Given the description of an element on the screen output the (x, y) to click on. 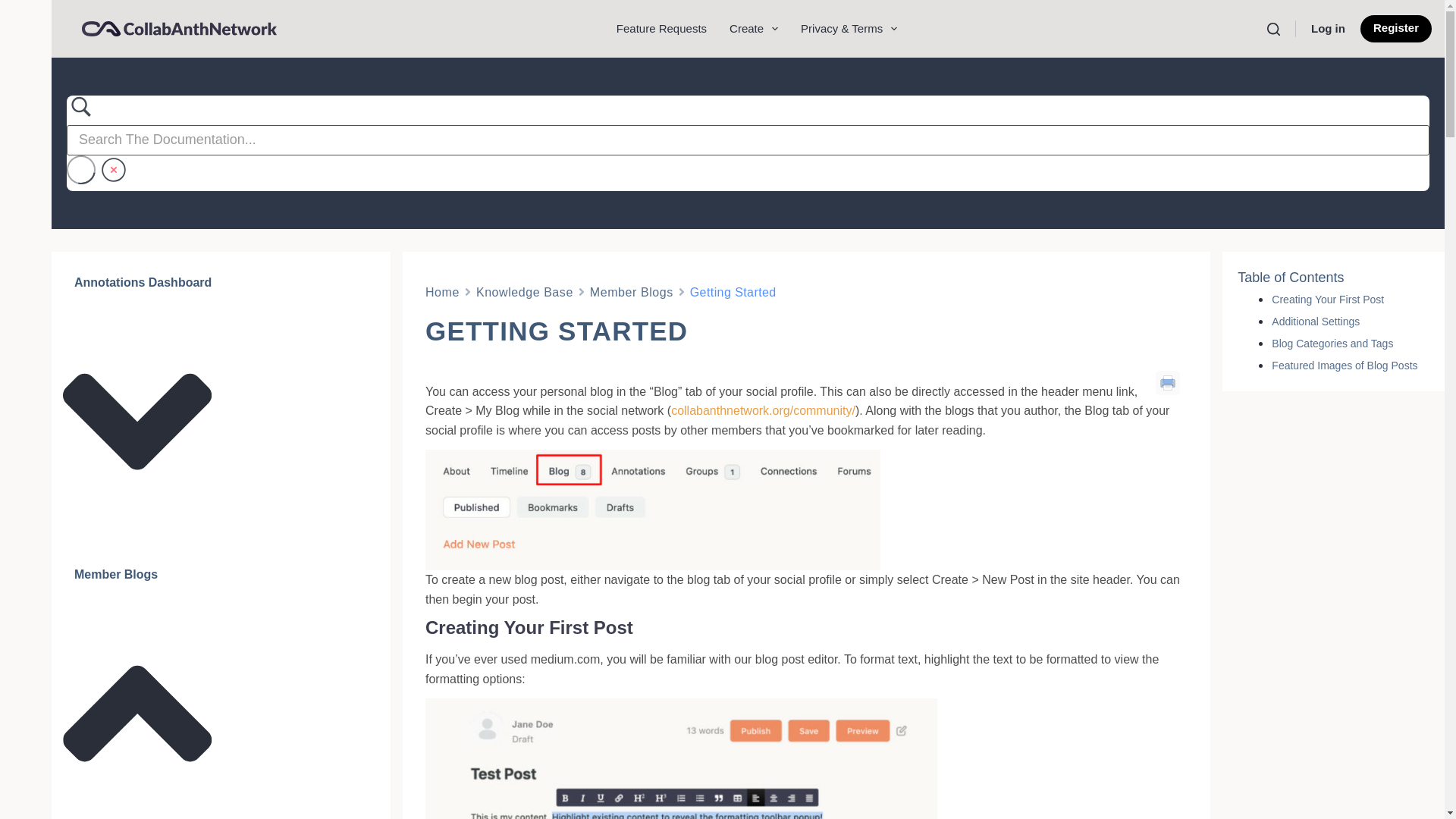
Member Blogs (630, 291)
Home (442, 291)
Create (753, 28)
Feature Requests (661, 28)
Skip to content (15, 7)
Register (1395, 29)
Log in (1328, 29)
Knowledge Base (524, 291)
